Given the description of an element on the screen output the (x, y) to click on. 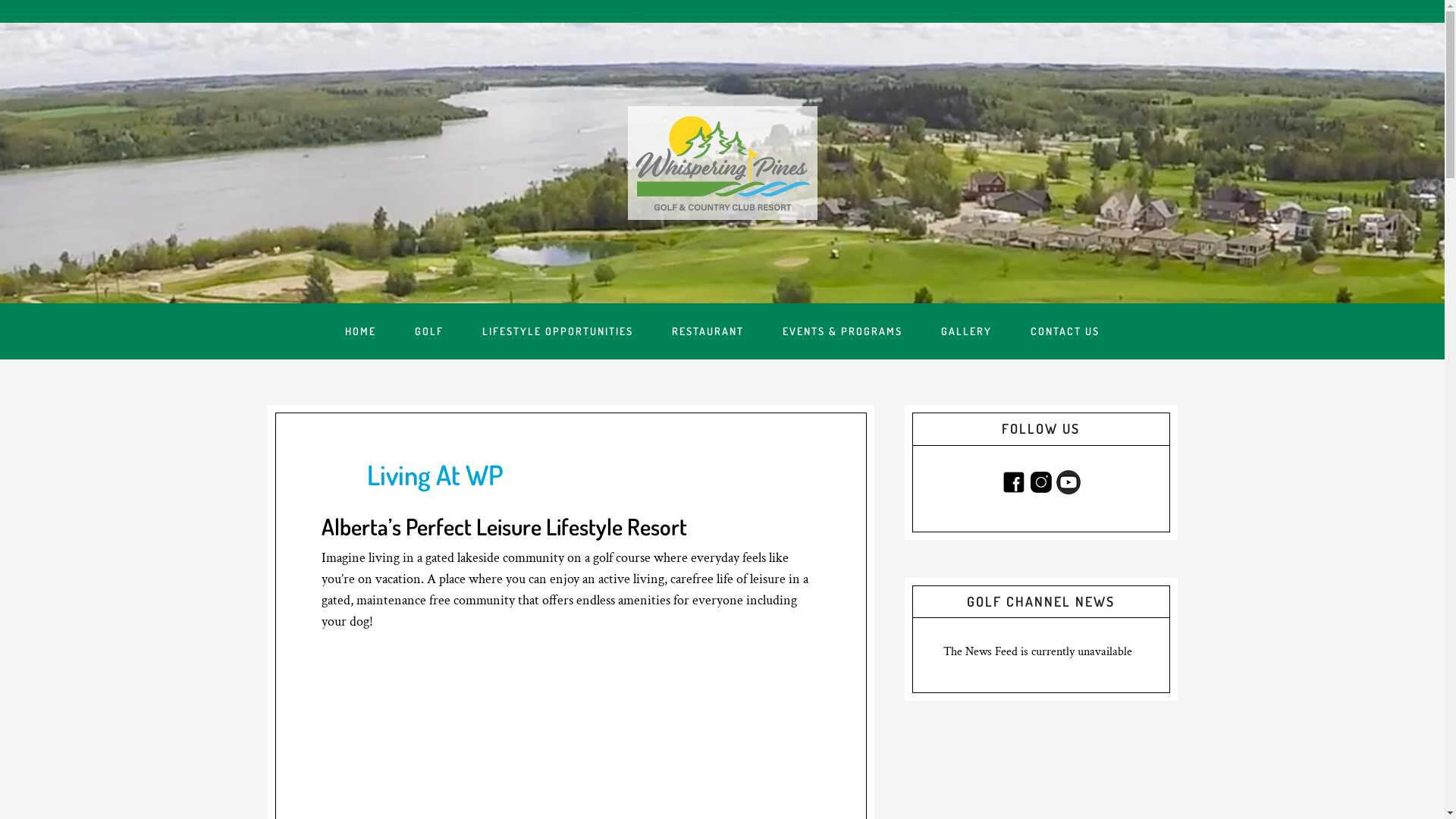
GOLF Element type: text (428, 331)
CONTACT US Element type: text (1064, 331)
WHISPERING PINES GOLF Element type: text (722, 162)
RESTAURANT Element type: text (707, 331)
EVENTS & PROGRAMS Element type: text (842, 331)
GALLERY Element type: text (966, 331)
HOME Element type: text (360, 331)
LIFESTYLE OPPORTUNITIES Element type: text (557, 331)
Skip to primary navigation Element type: text (0, 0)
